Given the description of an element on the screen output the (x, y) to click on. 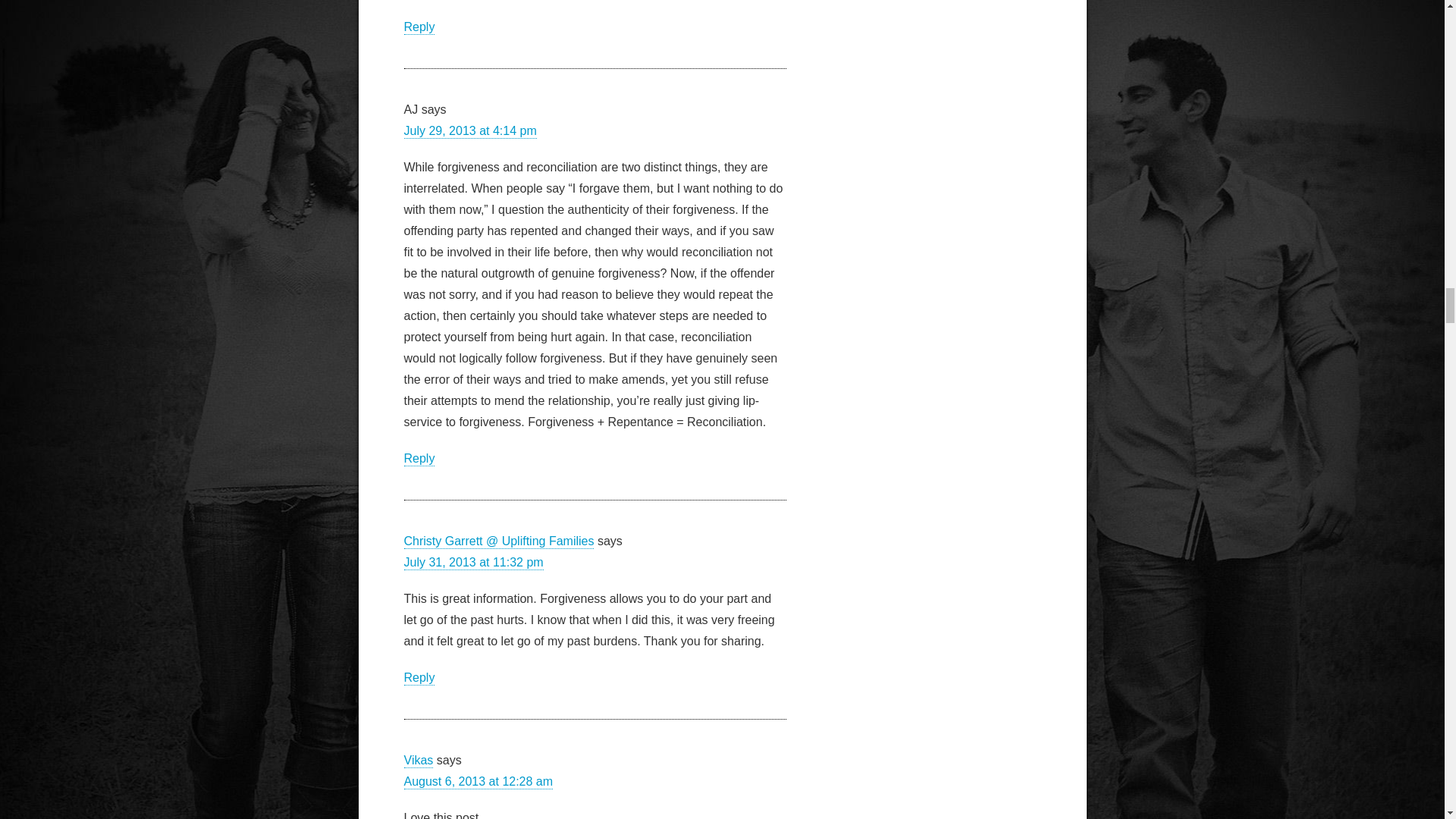
Reply (418, 27)
July 29, 2013 at 4:14 pm (469, 131)
Reply (418, 459)
